Given the description of an element on the screen output the (x, y) to click on. 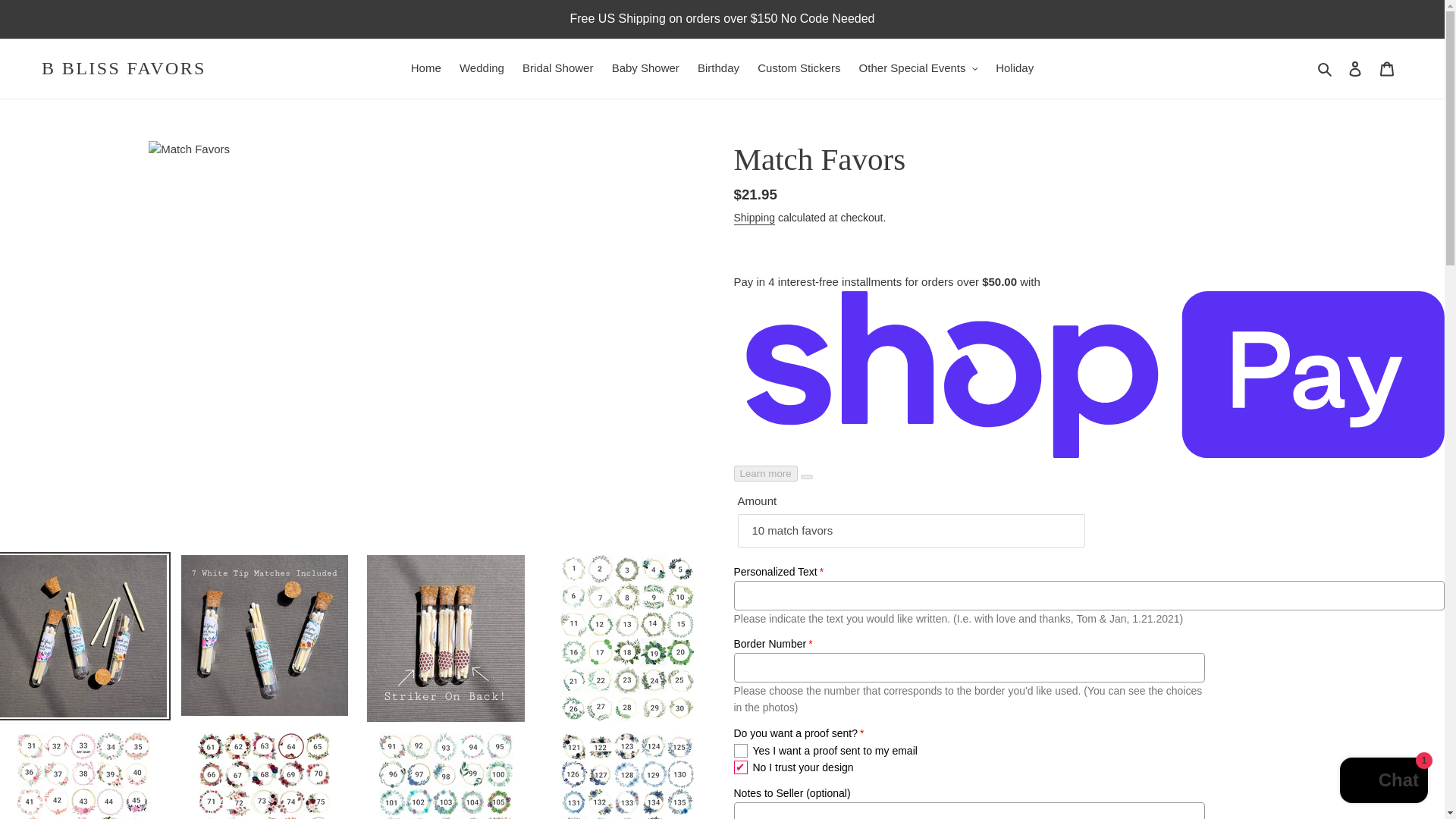
Wedding (481, 68)
Cart (1387, 68)
Home (425, 68)
Bridal Shower (557, 68)
Other Special Events (918, 68)
Search (1326, 67)
Log in (1355, 68)
Birthday (718, 68)
B BLISS FAVORS (124, 68)
Shopify online store chat (1383, 781)
Holiday (1014, 68)
Baby Shower (645, 68)
Custom Stickers (798, 68)
